Given the description of an element on the screen output the (x, y) to click on. 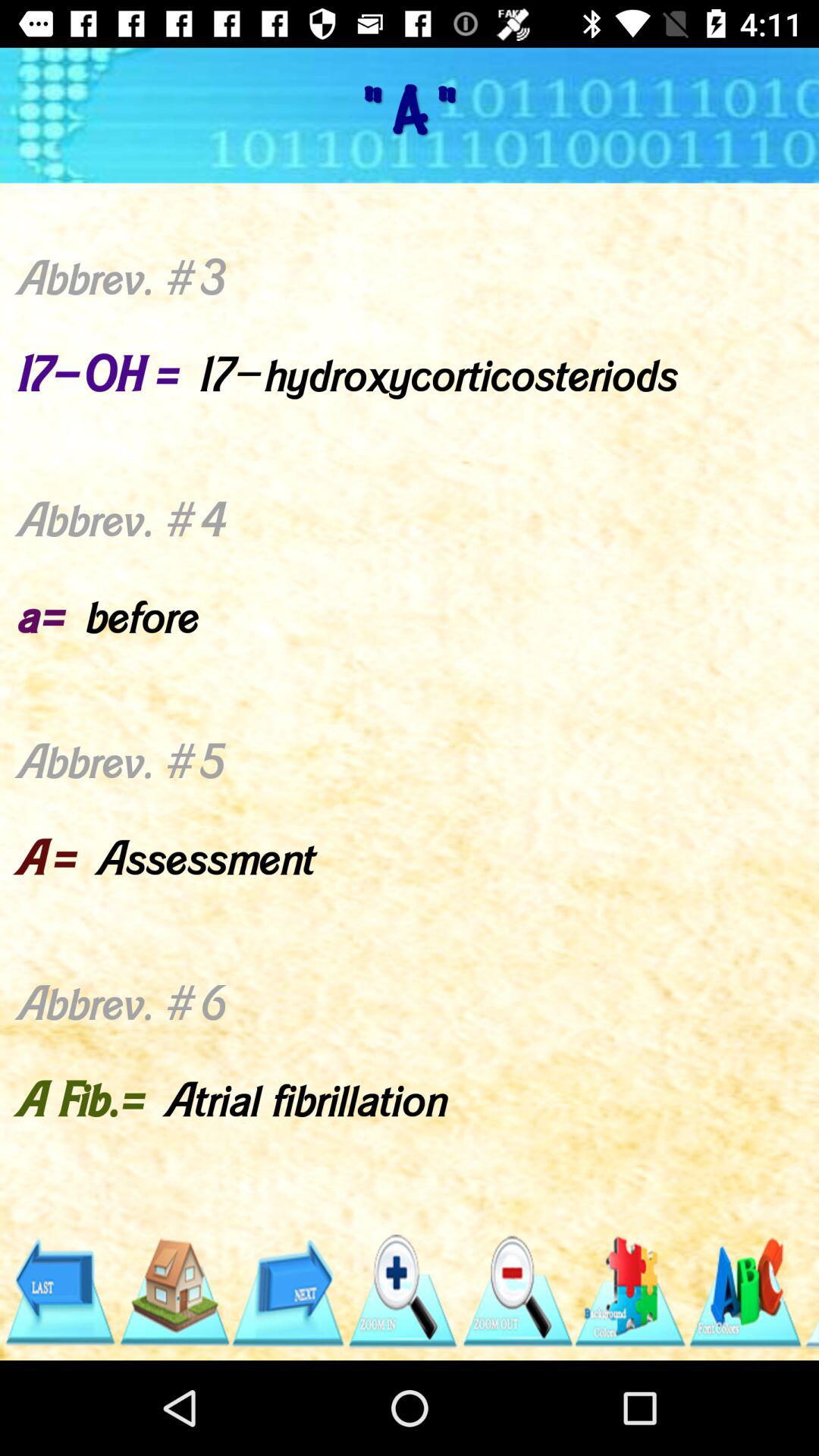
choose the icon below abbrev 	1 (173, 1291)
